Given the description of an element on the screen output the (x, y) to click on. 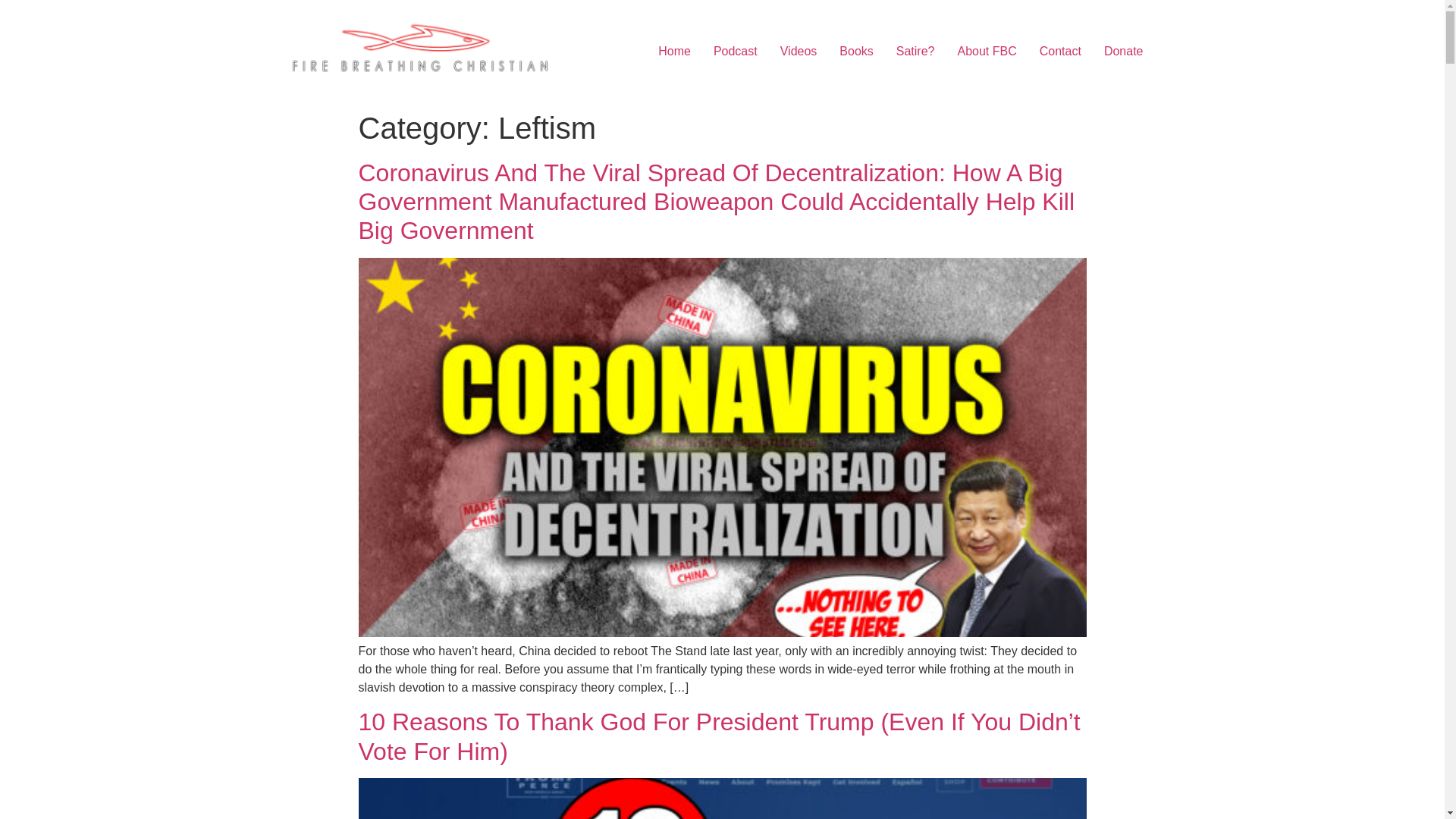
Videos (798, 51)
Satire? (915, 51)
Books (855, 51)
Donate (1123, 51)
About FBC (986, 51)
Contact (1060, 51)
Podcast (734, 51)
Home (673, 51)
